Given the description of an element on the screen output the (x, y) to click on. 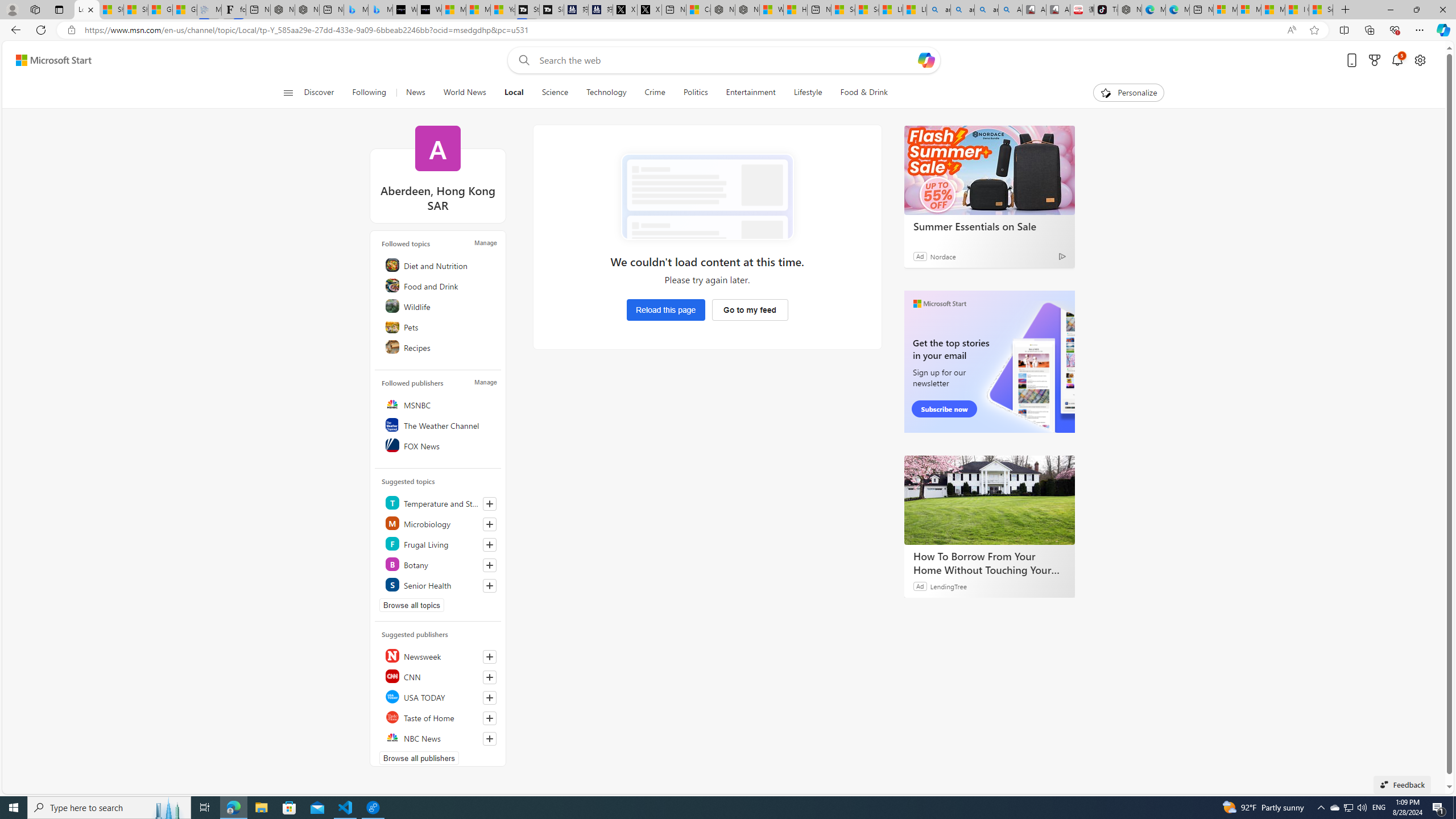
World News (464, 92)
Entertainment (750, 92)
Open settings (1420, 60)
Local (513, 92)
